Given the description of an element on the screen output the (x, y) to click on. 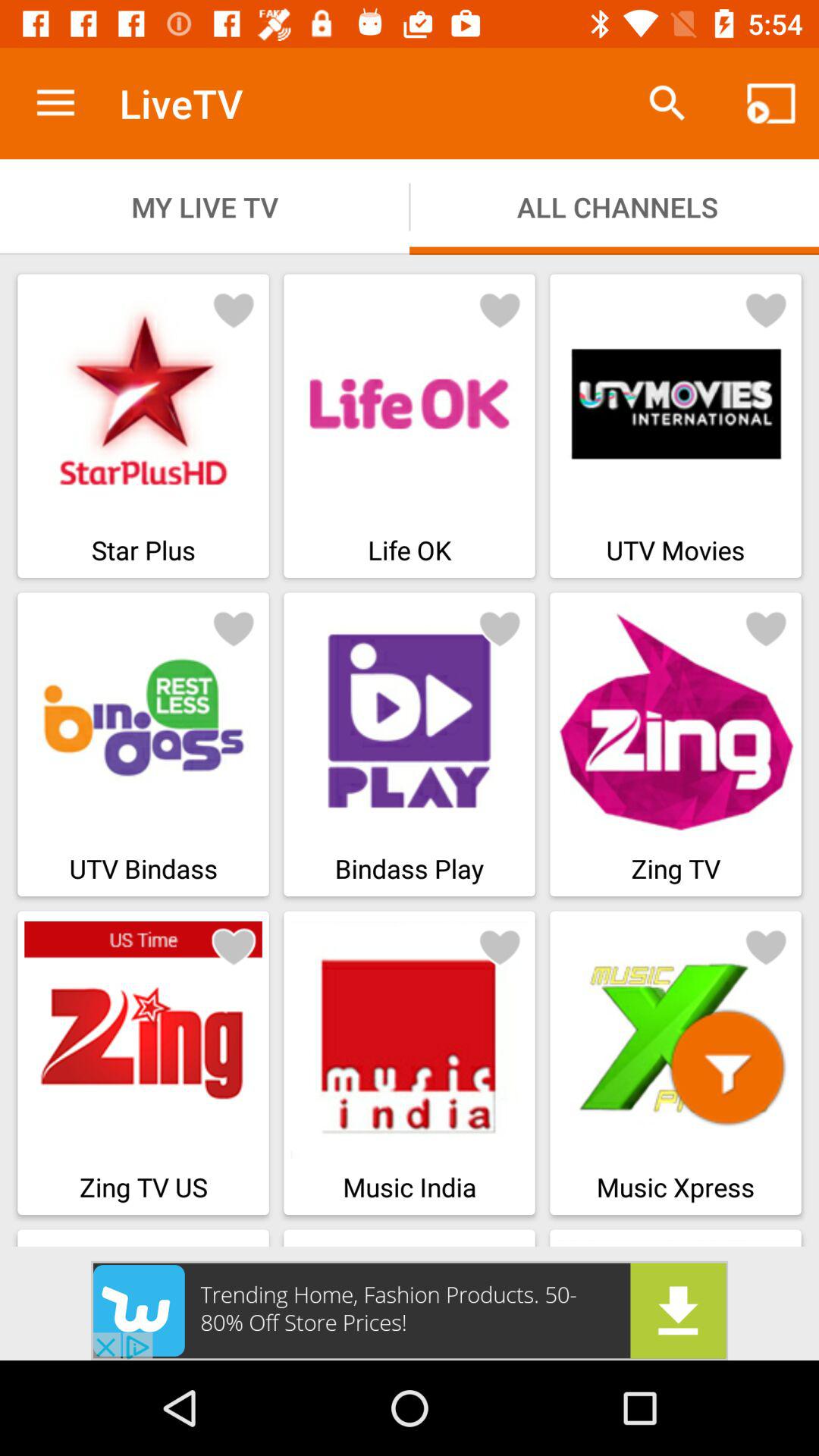
like option (766, 309)
